Given the description of an element on the screen output the (x, y) to click on. 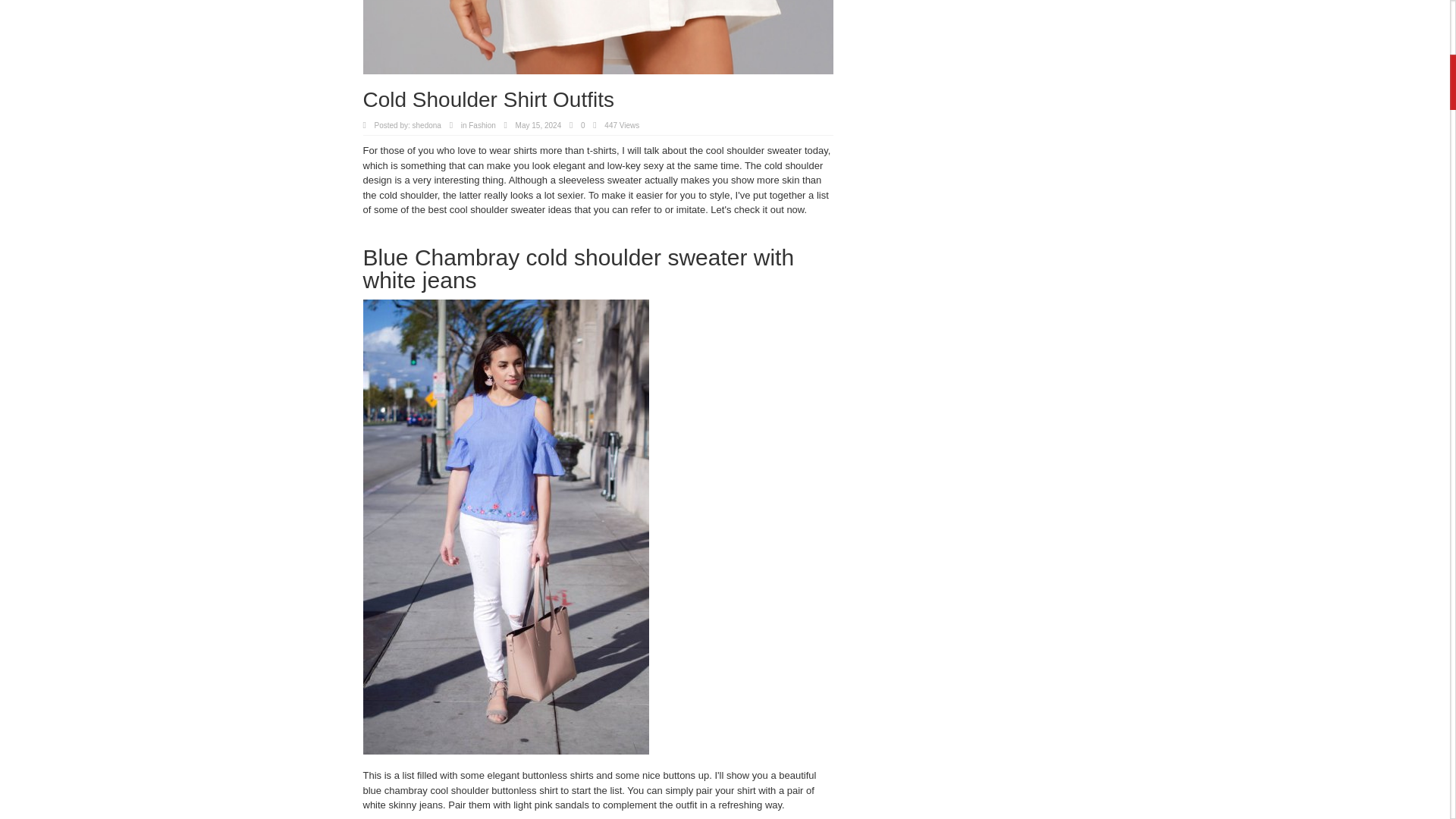
Fashion (482, 125)
Cold Shoulder Shirt Outfits (597, 37)
shedona (426, 125)
